Given the description of an element on the screen output the (x, y) to click on. 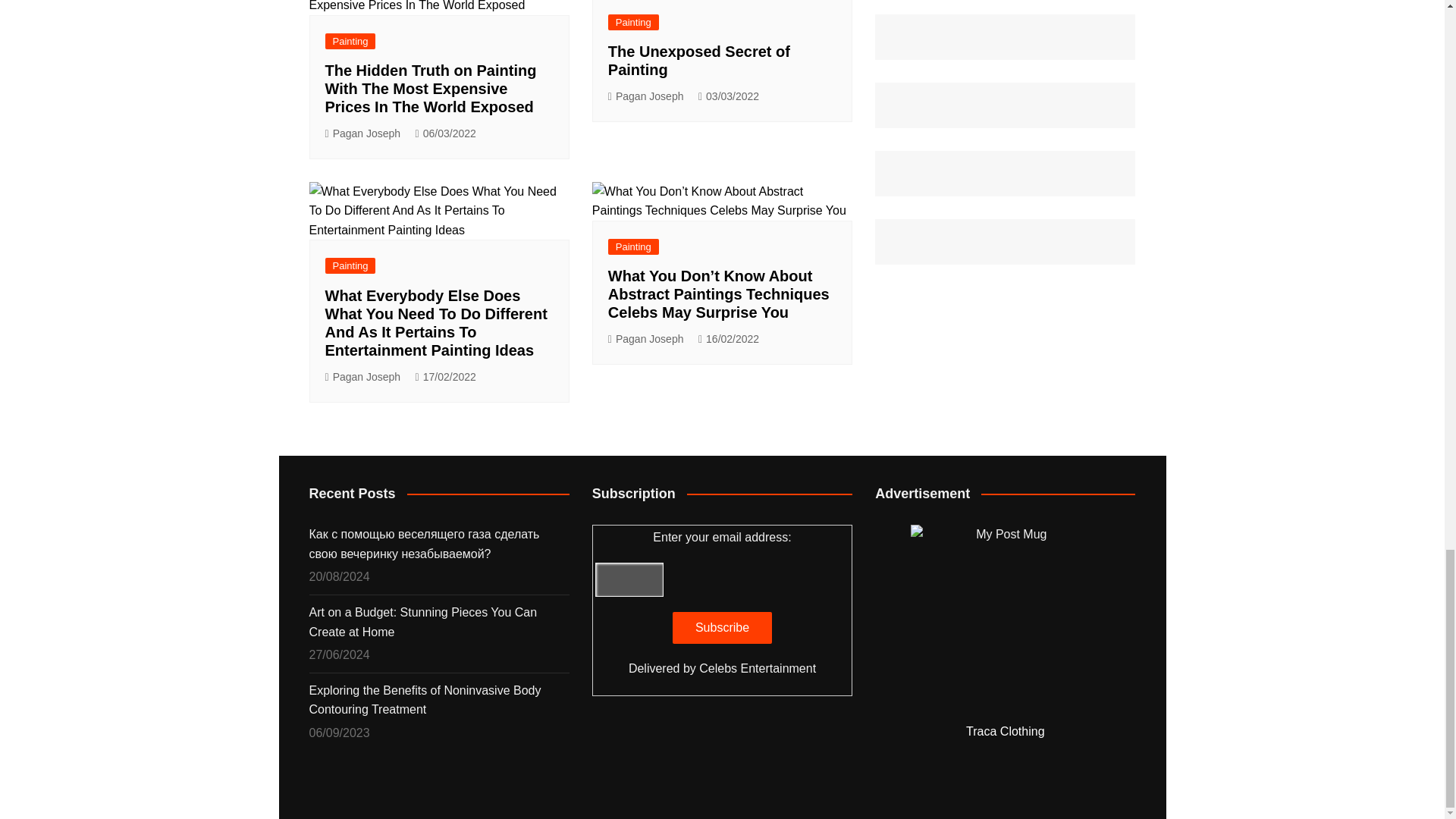
Painting (633, 22)
My Post Mug (1005, 619)
Subscribe (721, 627)
Painting (349, 41)
Pagan Joseph (362, 133)
